Given the description of an element on the screen output the (x, y) to click on. 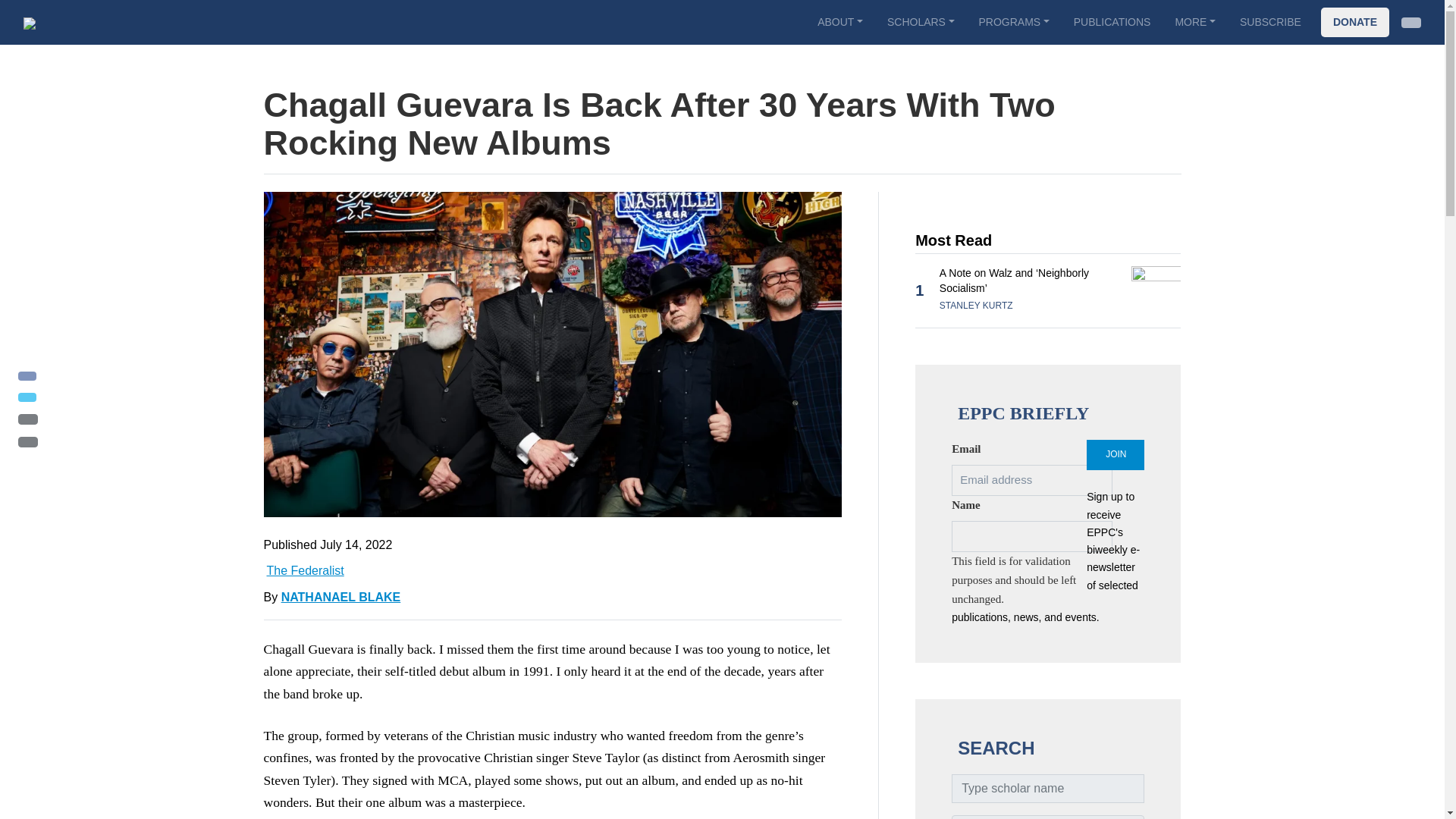
ABOUT (840, 21)
SCHOLARS (920, 21)
JOIN (1115, 454)
